Given the description of an element on the screen output the (x, y) to click on. 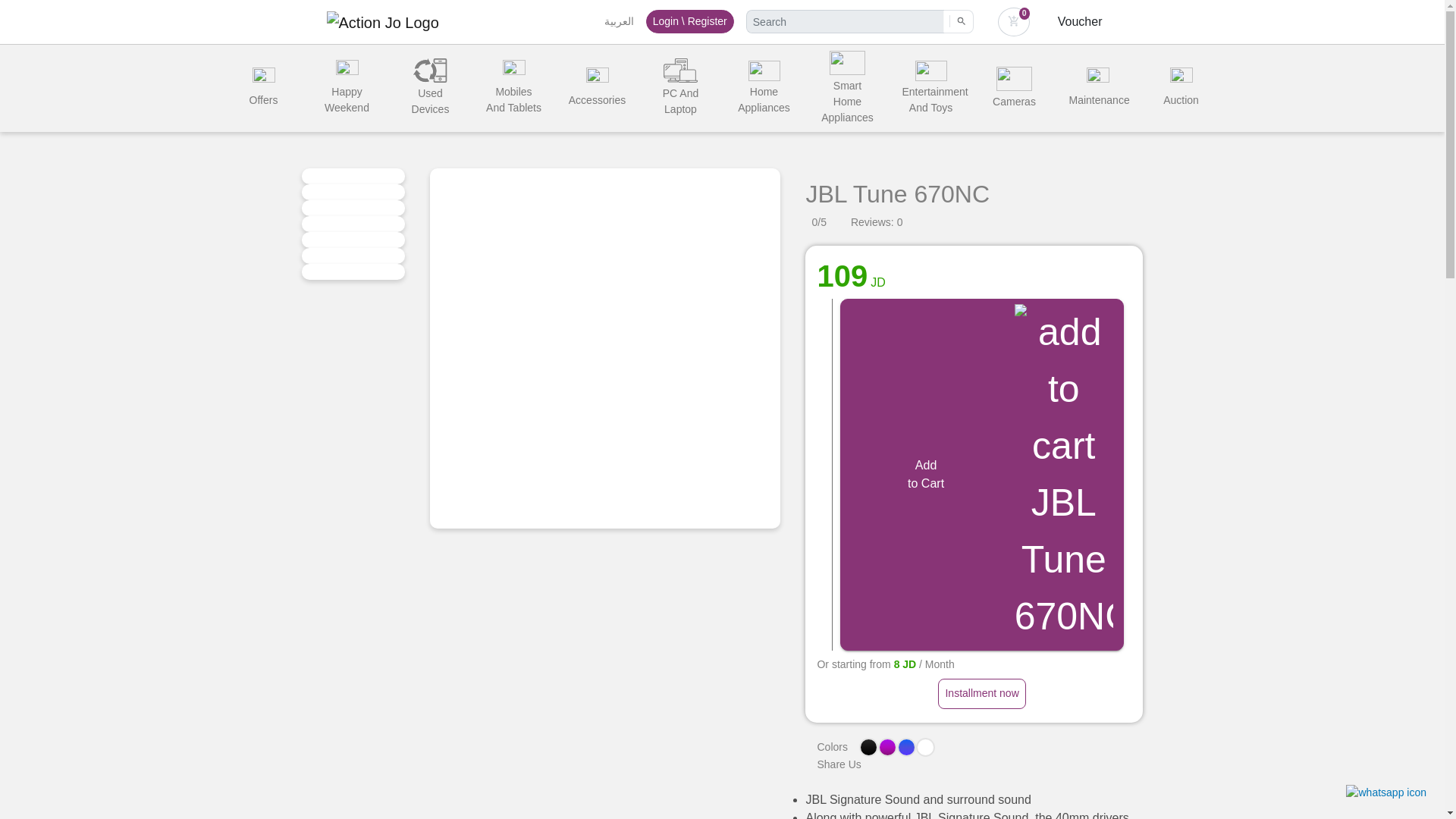
Mobiles And Tablets (512, 88)
Cameras (1013, 88)
PC And Laptop (680, 87)
Entertainment And Toys (930, 88)
Used Devices (429, 87)
Accessories (595, 87)
Offers (262, 87)
Auction (1179, 87)
Home Appliances (763, 88)
Happy Weekend (346, 88)
